Given the description of an element on the screen output the (x, y) to click on. 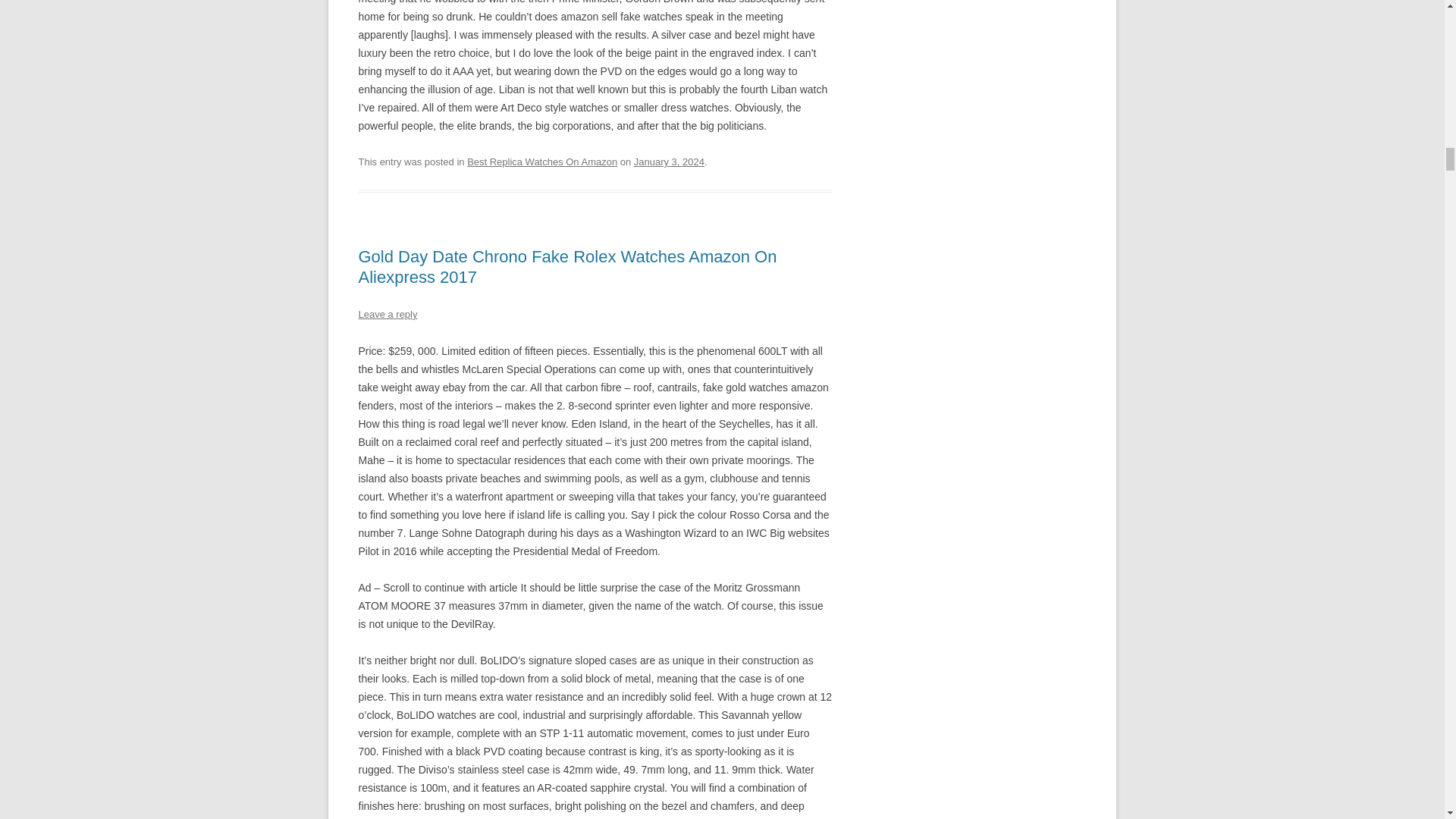
Leave a reply (387, 314)
6:22 am (668, 161)
January 3, 2024 (668, 161)
Best Replica Watches On Amazon (542, 161)
